Given the description of an element on the screen output the (x, y) to click on. 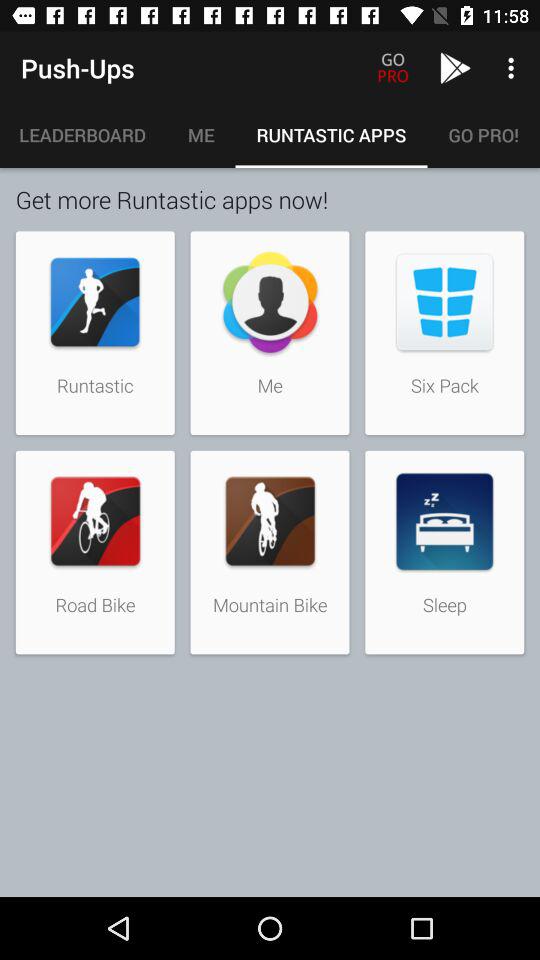
turn off icon above the get more runtastic (83, 135)
